Given the description of an element on the screen output the (x, y) to click on. 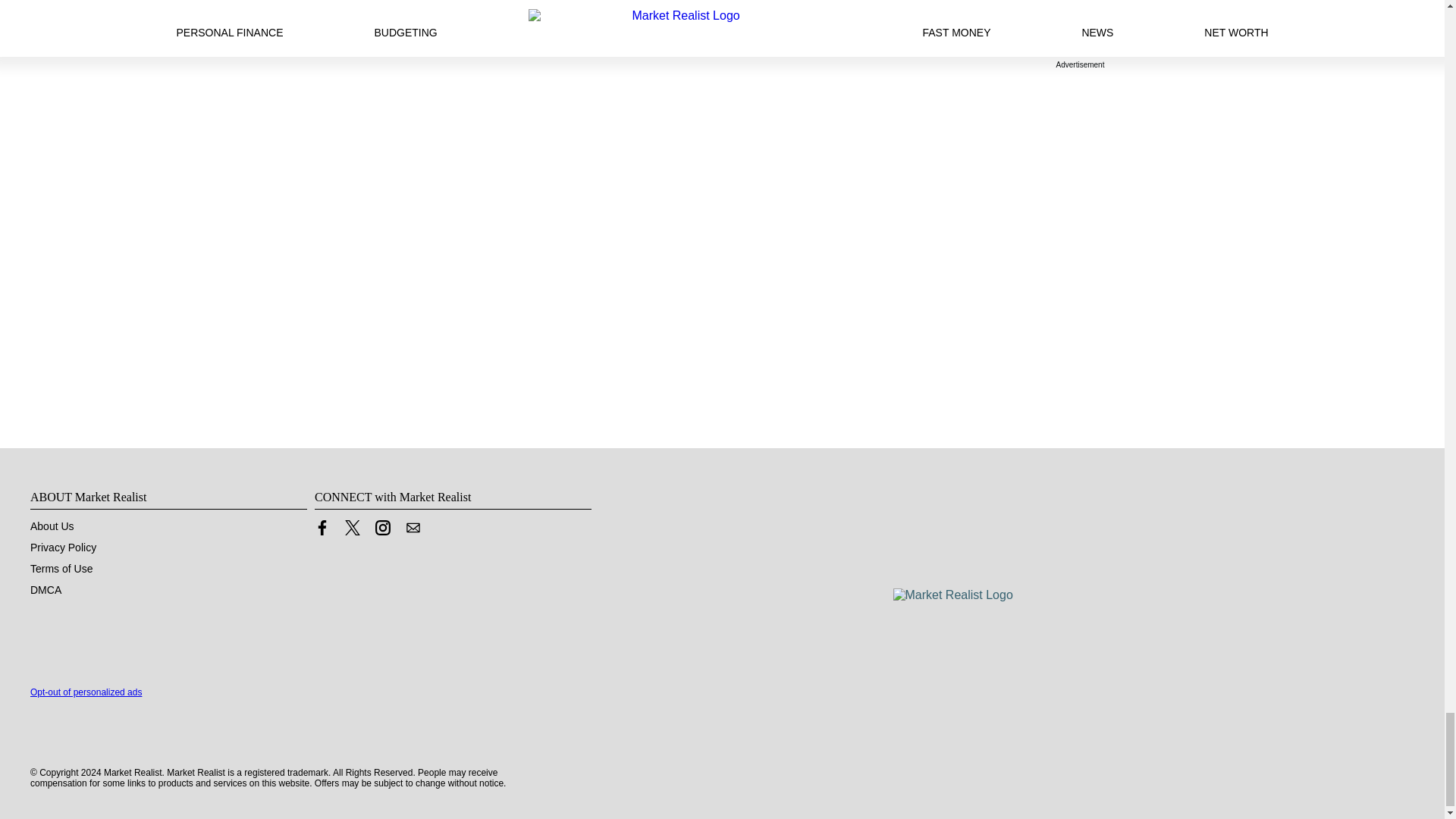
Link to Instagram (382, 527)
Terms of Use (61, 568)
Link to Facebook (322, 531)
Privacy Policy (63, 547)
About Us (52, 526)
DMCA (45, 589)
Link to X (352, 531)
Link to X (352, 527)
Terms of Use (61, 568)
Link to Facebook (322, 527)
Link to Instagram (382, 531)
Contact us by Email (413, 527)
Privacy Policy (63, 547)
Opt-out of personalized ads (85, 692)
About Us (52, 526)
